Given the description of an element on the screen output the (x, y) to click on. 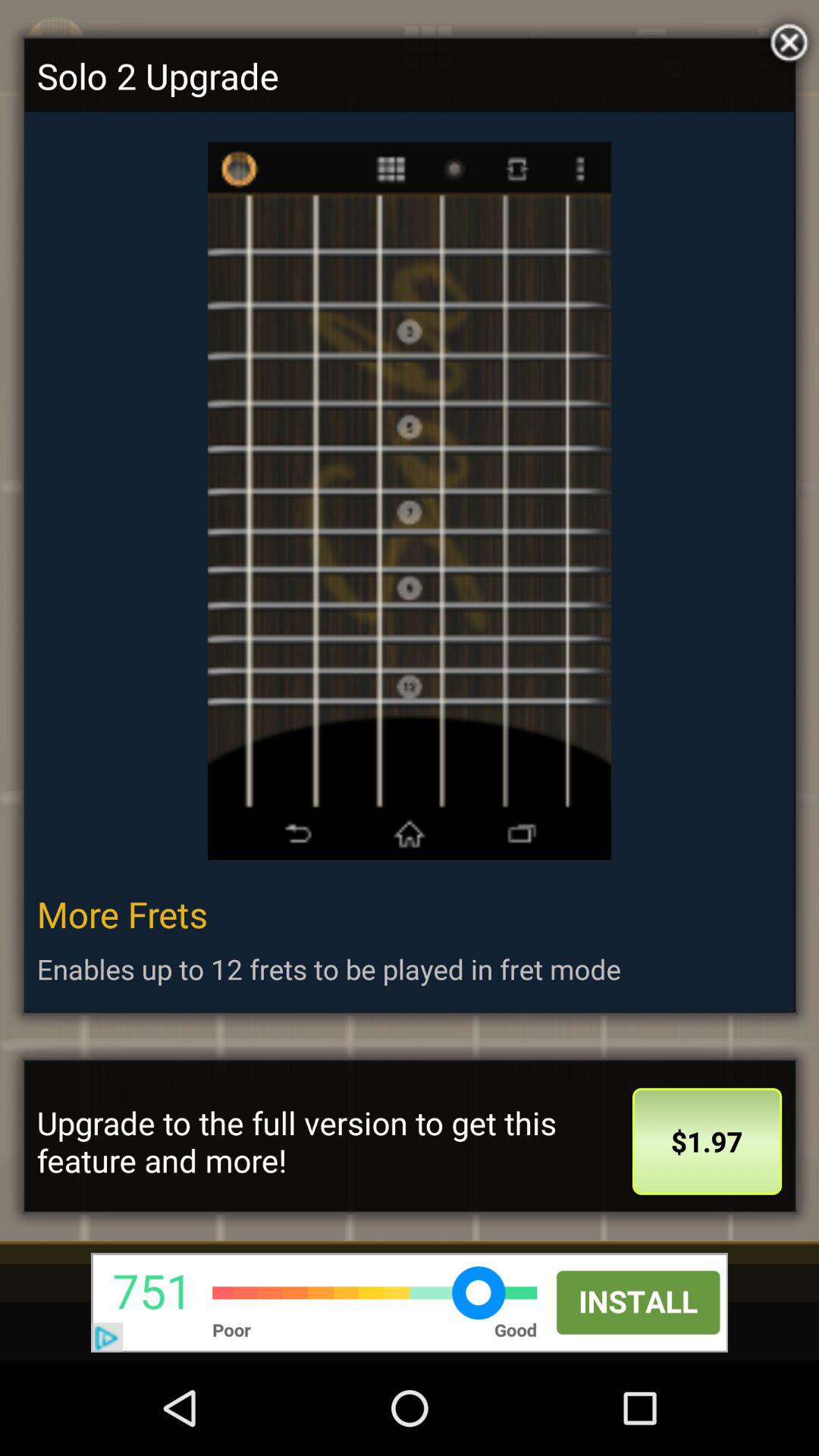
close cords (786, 38)
